Given the description of an element on the screen output the (x, y) to click on. 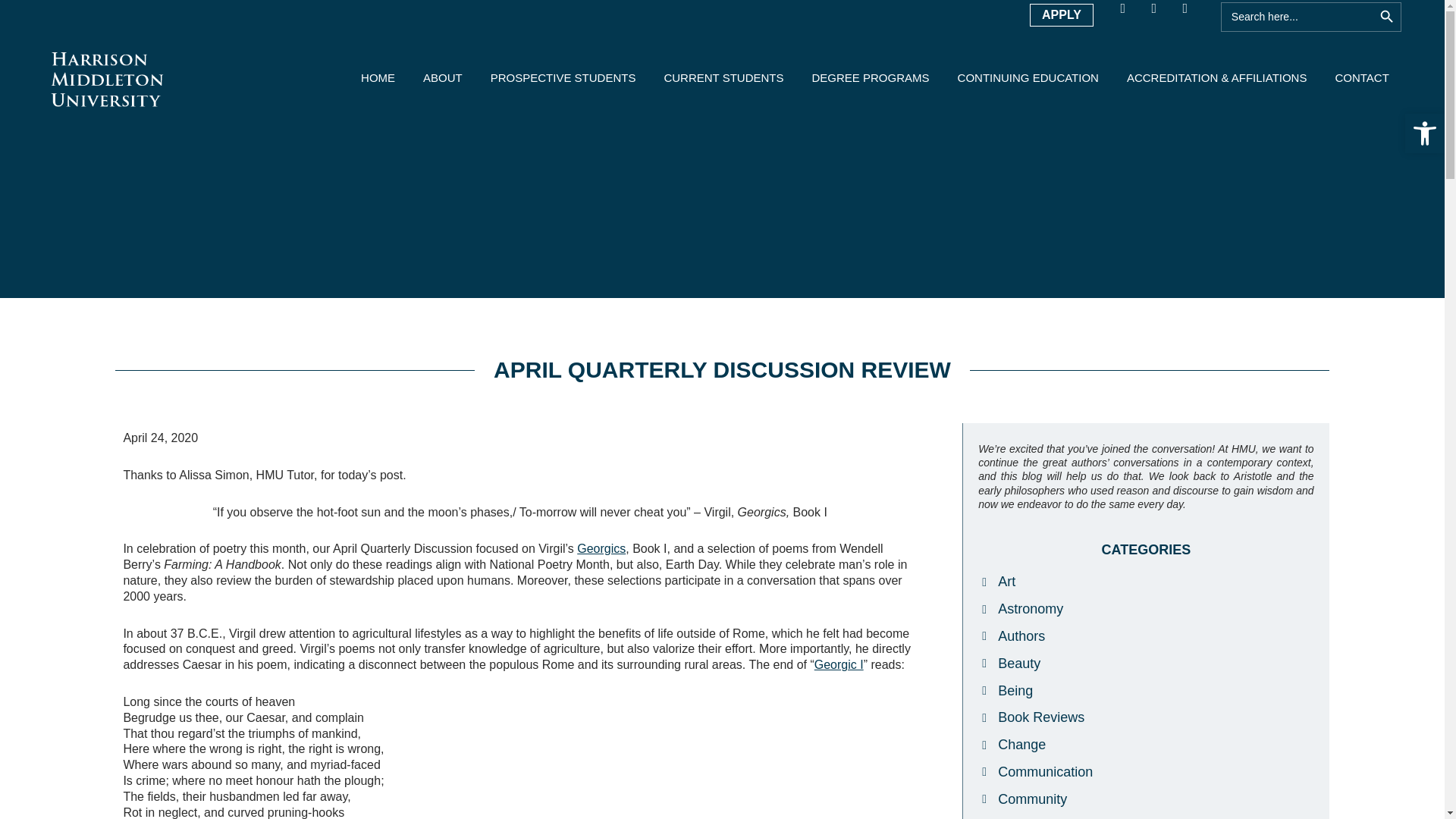
SEARCH BUTTON (1386, 16)
Blog (1191, 14)
APPLY (1061, 15)
HOME (377, 77)
ABOUT (443, 77)
Facebook-f (1129, 14)
Accessibility Tools (1424, 133)
Envelope (1160, 14)
